Given the description of an element on the screen output the (x, y) to click on. 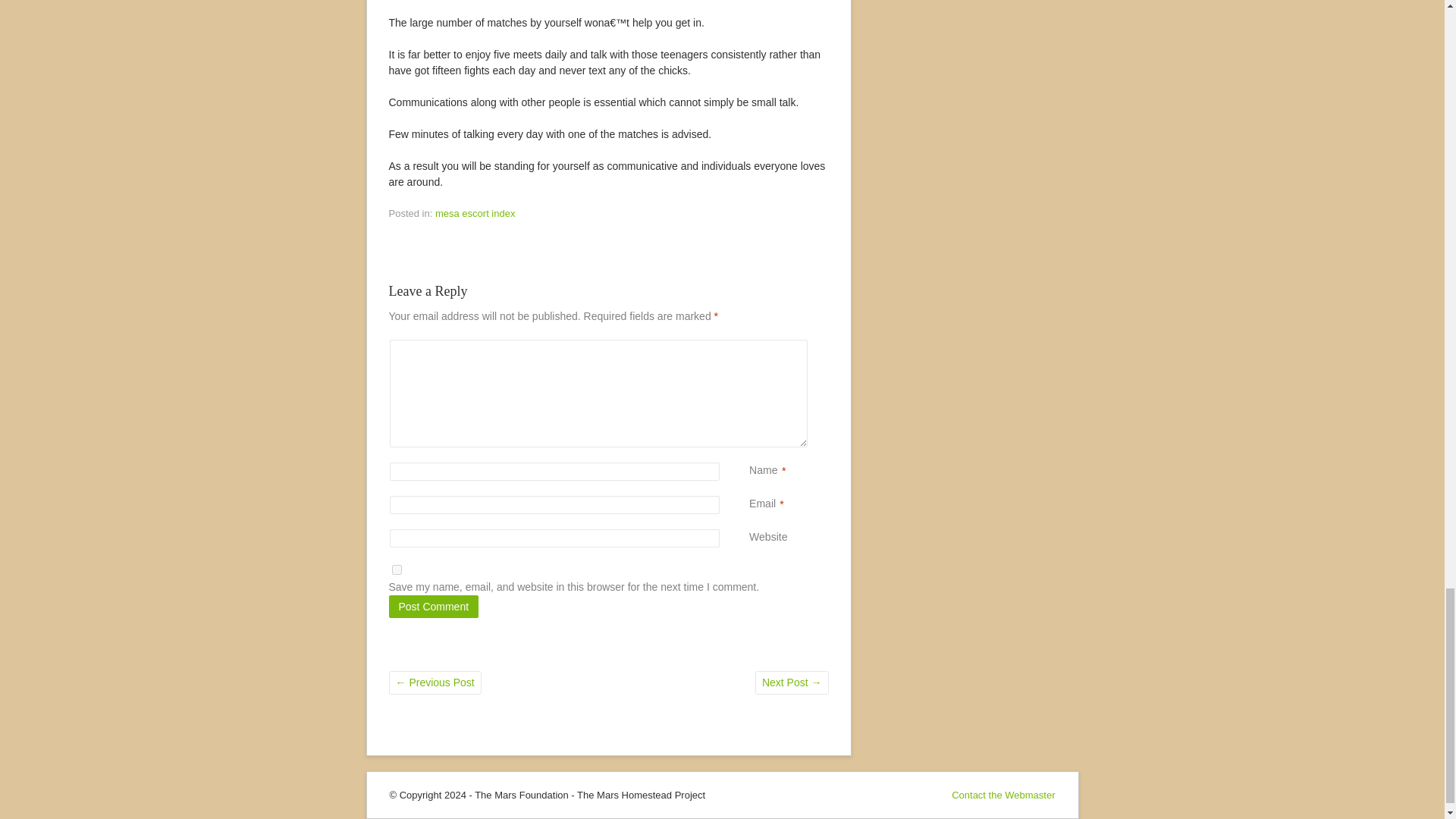
yes (396, 569)
Post Comment (433, 606)
Post Comment (433, 606)
mesa escort index (475, 213)
Contact the Webmaster (1003, 794)
